Given the description of an element on the screen output the (x, y) to click on. 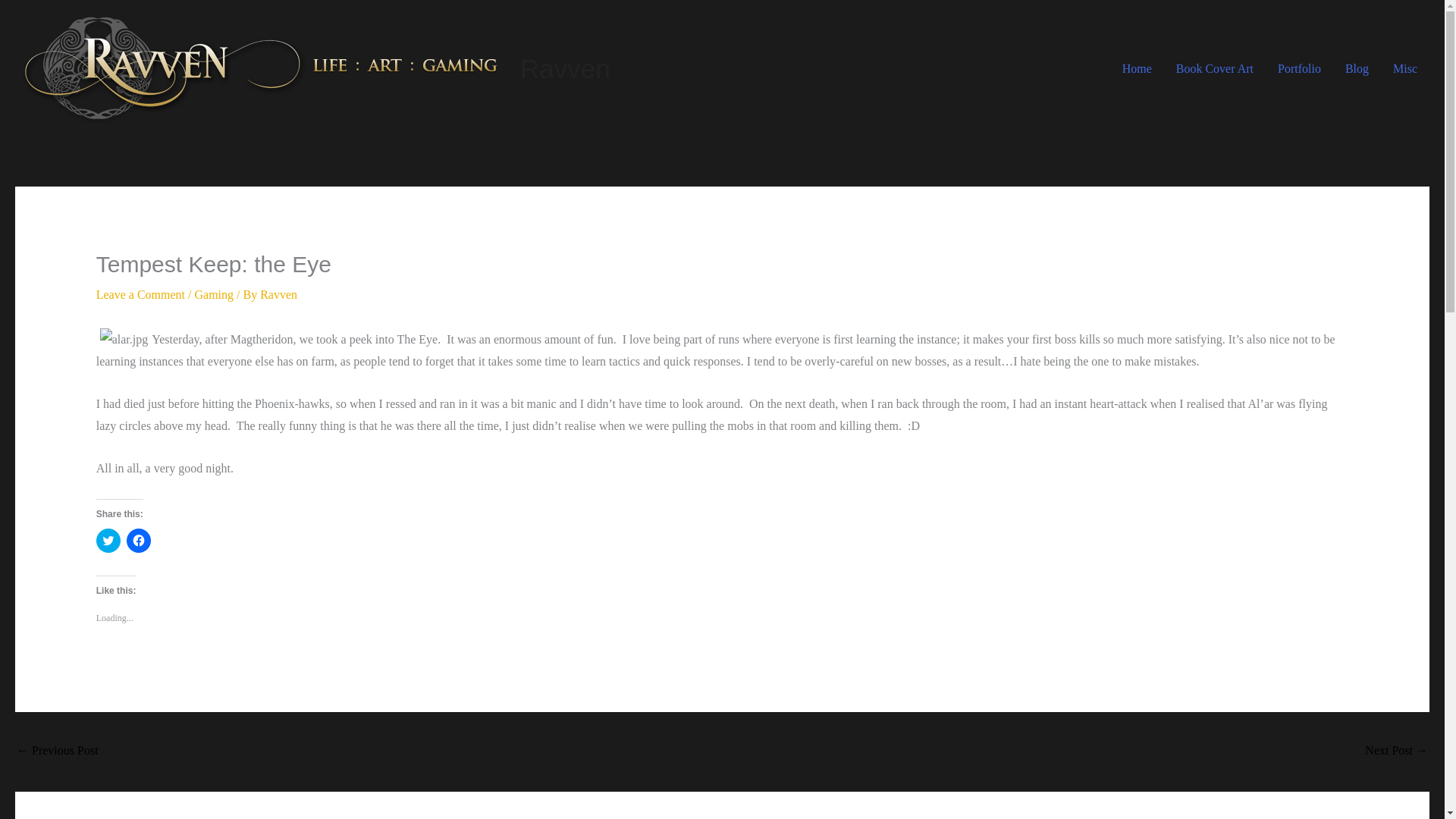
Click to share on Twitter (108, 540)
Home (1136, 68)
View all posts by Ravven (278, 294)
Misc (1404, 68)
Blog (1356, 68)
Click to share on Facebook (138, 540)
First Impressions: LOTRO and Guild Wars (1396, 751)
Portfolio (1299, 68)
Book Cover Art (1214, 68)
Ravven (564, 68)
